Given the description of an element on the screen output the (x, y) to click on. 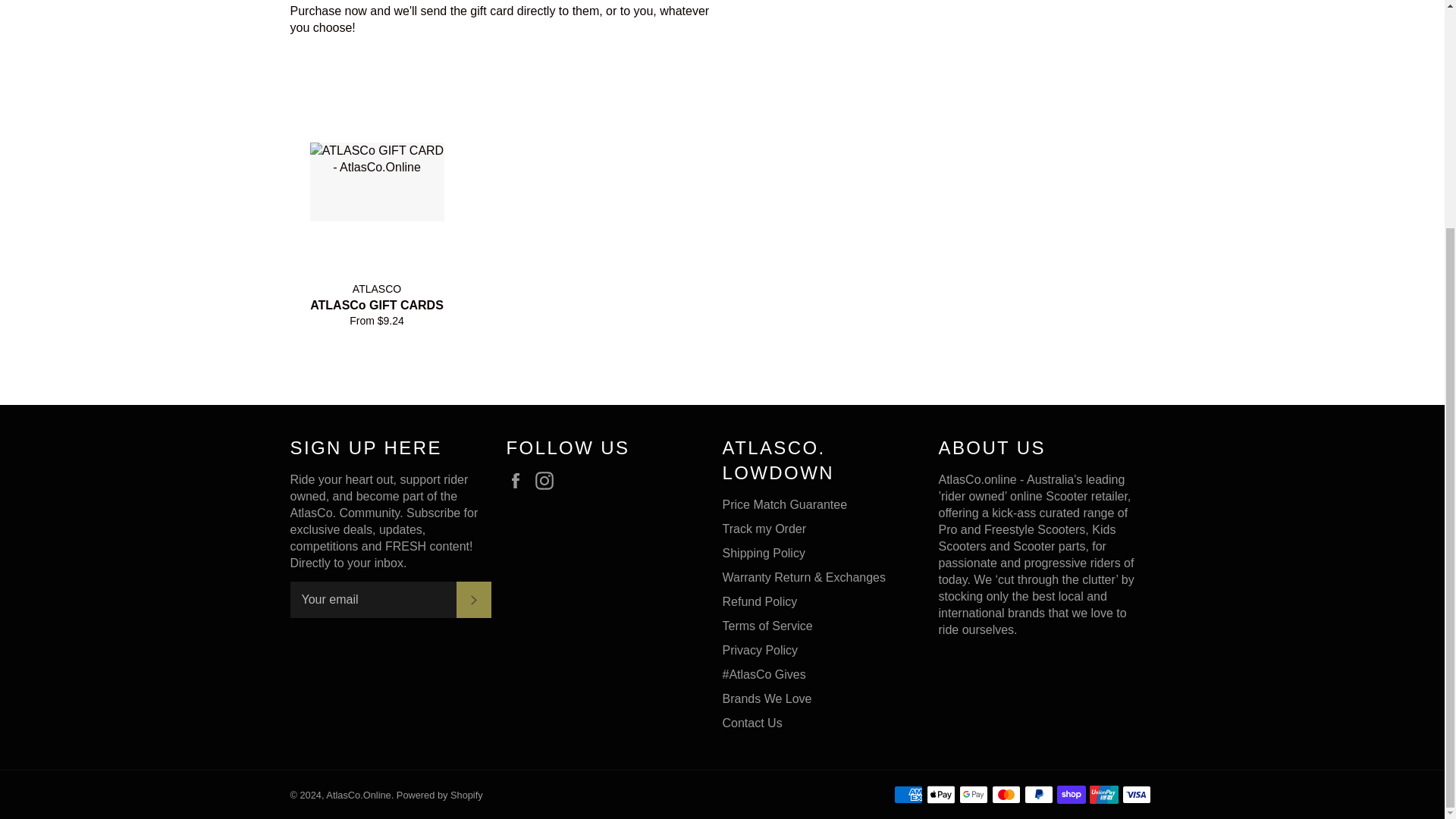
AtlasCo.Online on Facebook (519, 480)
AtlasCo.Online on Instagram (547, 480)
